Given the description of an element on the screen output the (x, y) to click on. 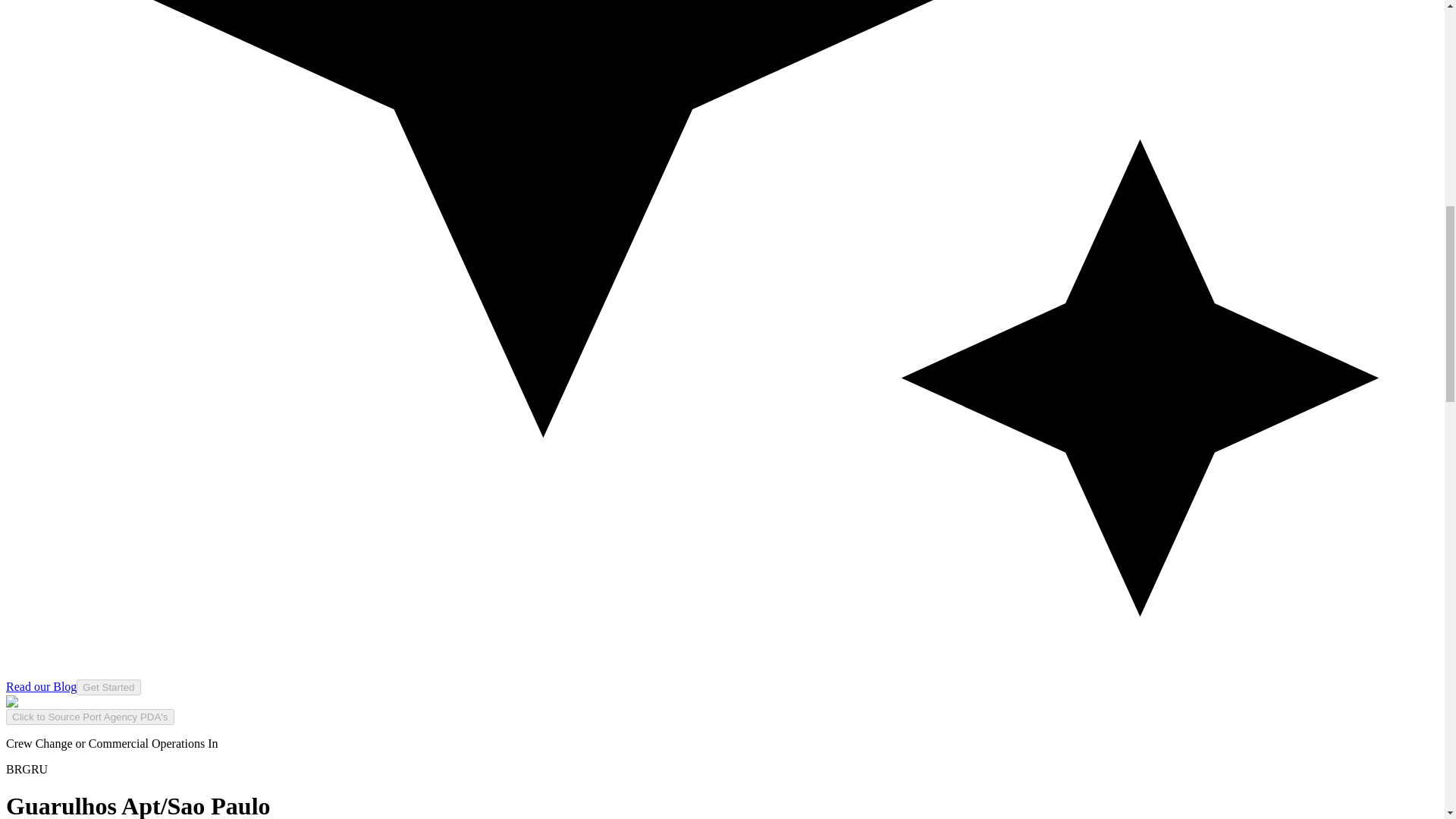
Read our Blog (41, 686)
Get Started (108, 686)
Get Started (108, 687)
Click to Source Port Agency PDA's (89, 716)
